Given the description of an element on the screen output the (x, y) to click on. 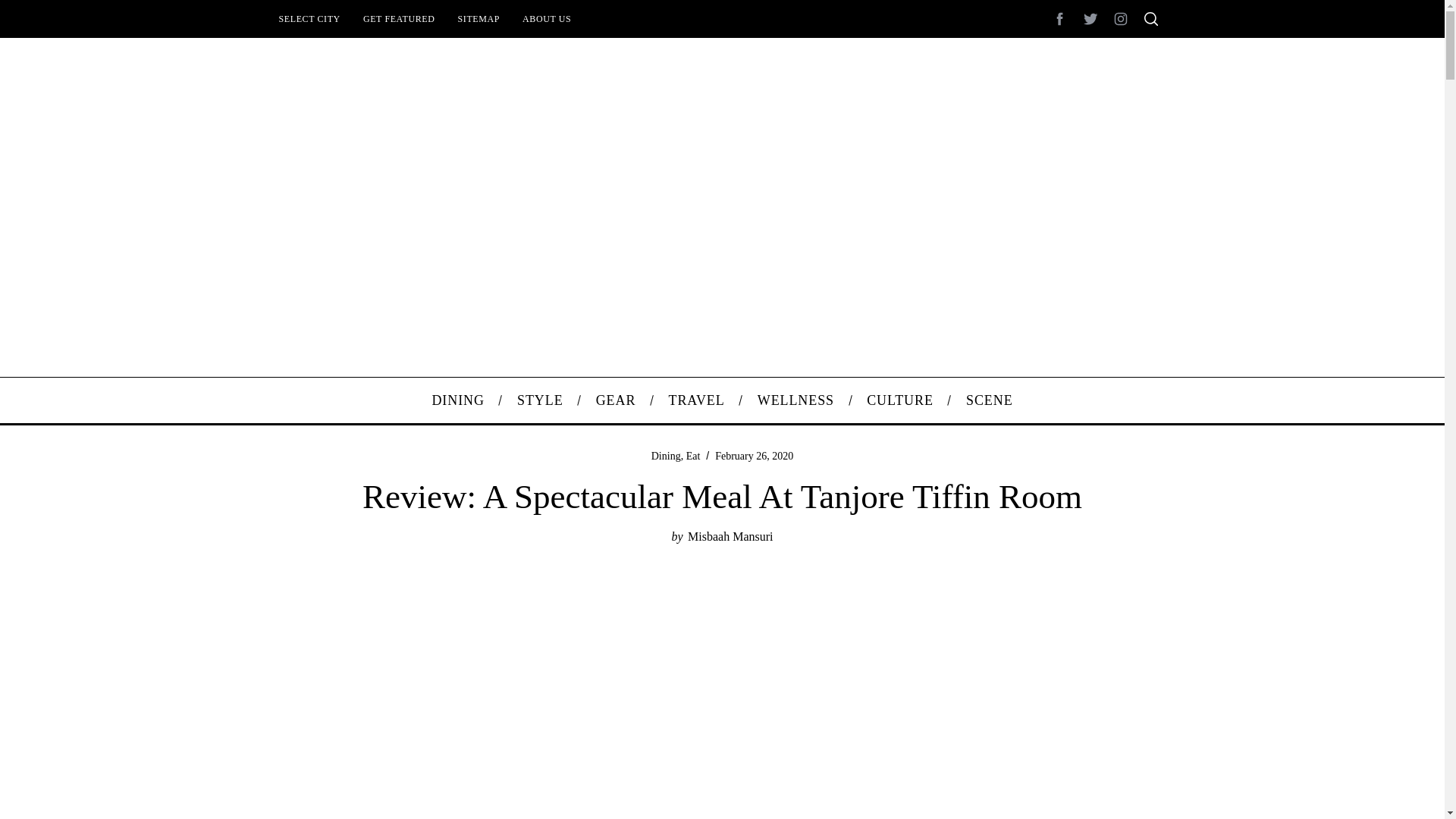
TRAVEL (696, 400)
SCENE (989, 400)
SITEMAP (479, 18)
CULTURE (900, 400)
GET FEATURED (399, 18)
STYLE (539, 400)
GEAR (615, 400)
WELLNESS (795, 400)
SELECT CITY (308, 18)
ABOUT US (546, 18)
